Given the description of an element on the screen output the (x, y) to click on. 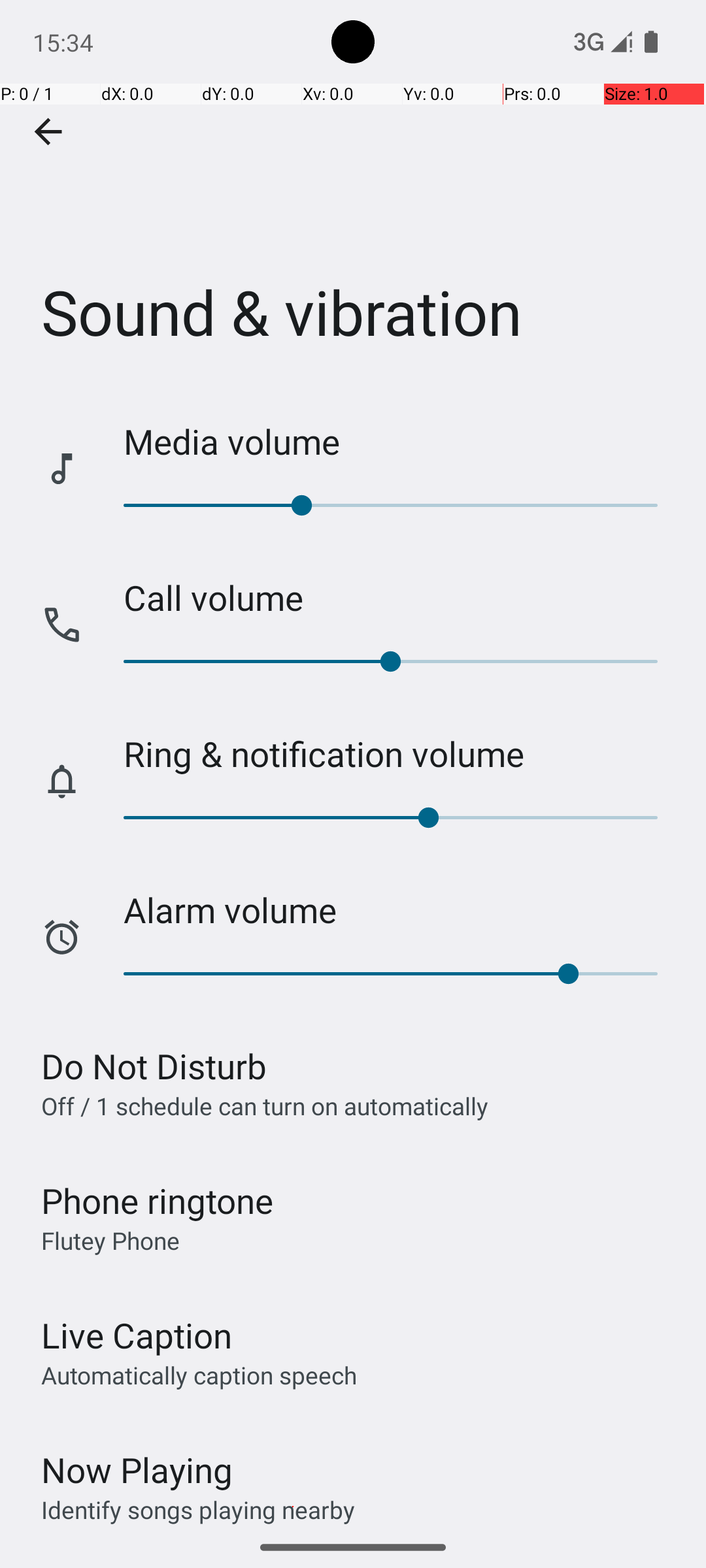
Off / 1 schedule can turn on automatically Element type: android.widget.TextView (264, 1105)
Now Playing Element type: android.widget.TextView (136, 1469)
Identify songs playing nearby Element type: android.widget.TextView (197, 1509)
